Given the description of an element on the screen output the (x, y) to click on. 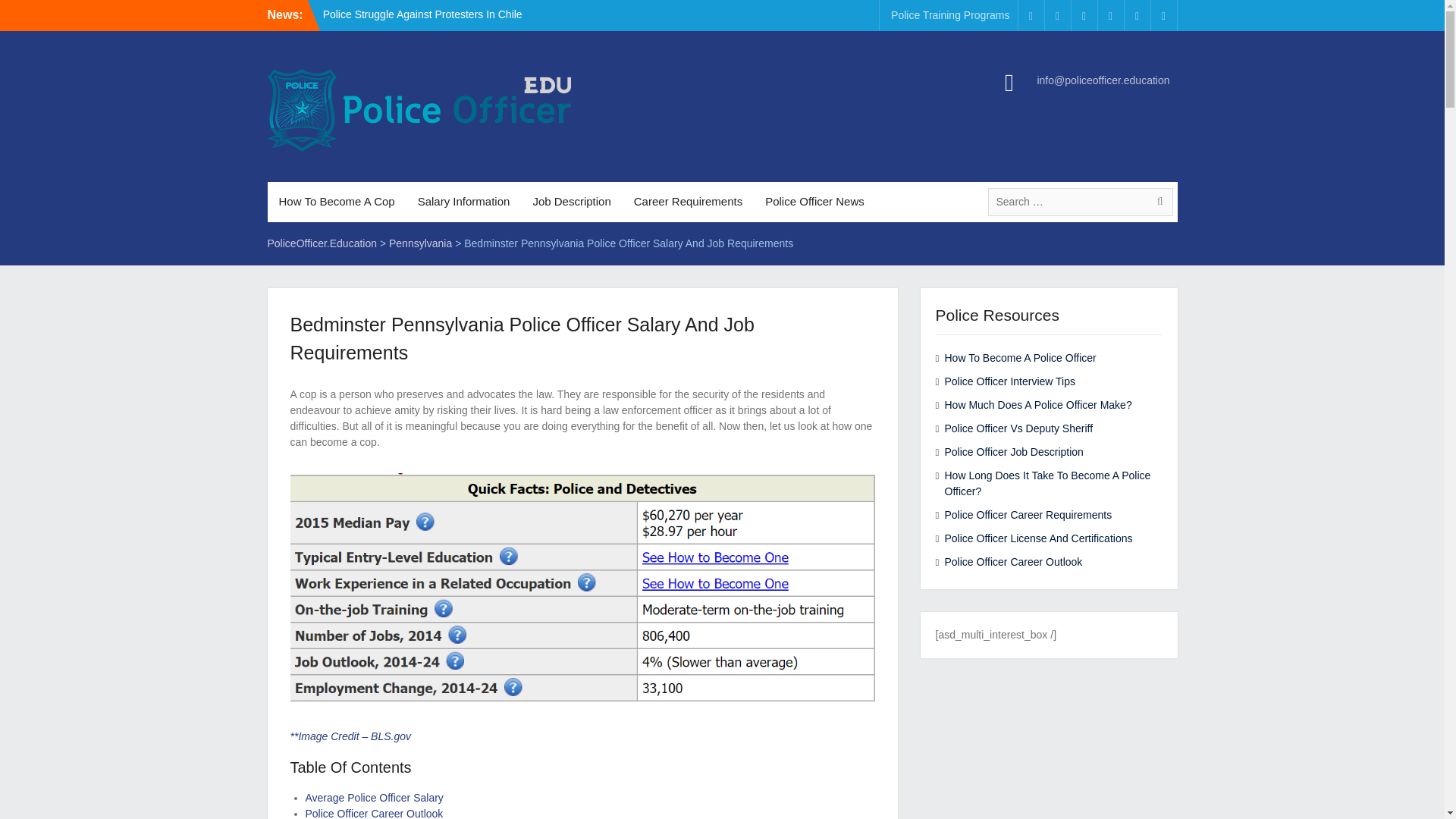
Police Struggle Against Protesters In Chile (422, 14)
Average Police Officer Salary (373, 797)
Career Requirements (688, 201)
Salary Information (463, 201)
PoliceOfficer.Education (321, 242)
Police Training Programs (949, 15)
How To Become A Cop (336, 201)
Police Officer News (815, 201)
Go to the Pennsylvania State Career archives. (419, 242)
Pennsylvania (419, 242)
